Given the description of an element on the screen output the (x, y) to click on. 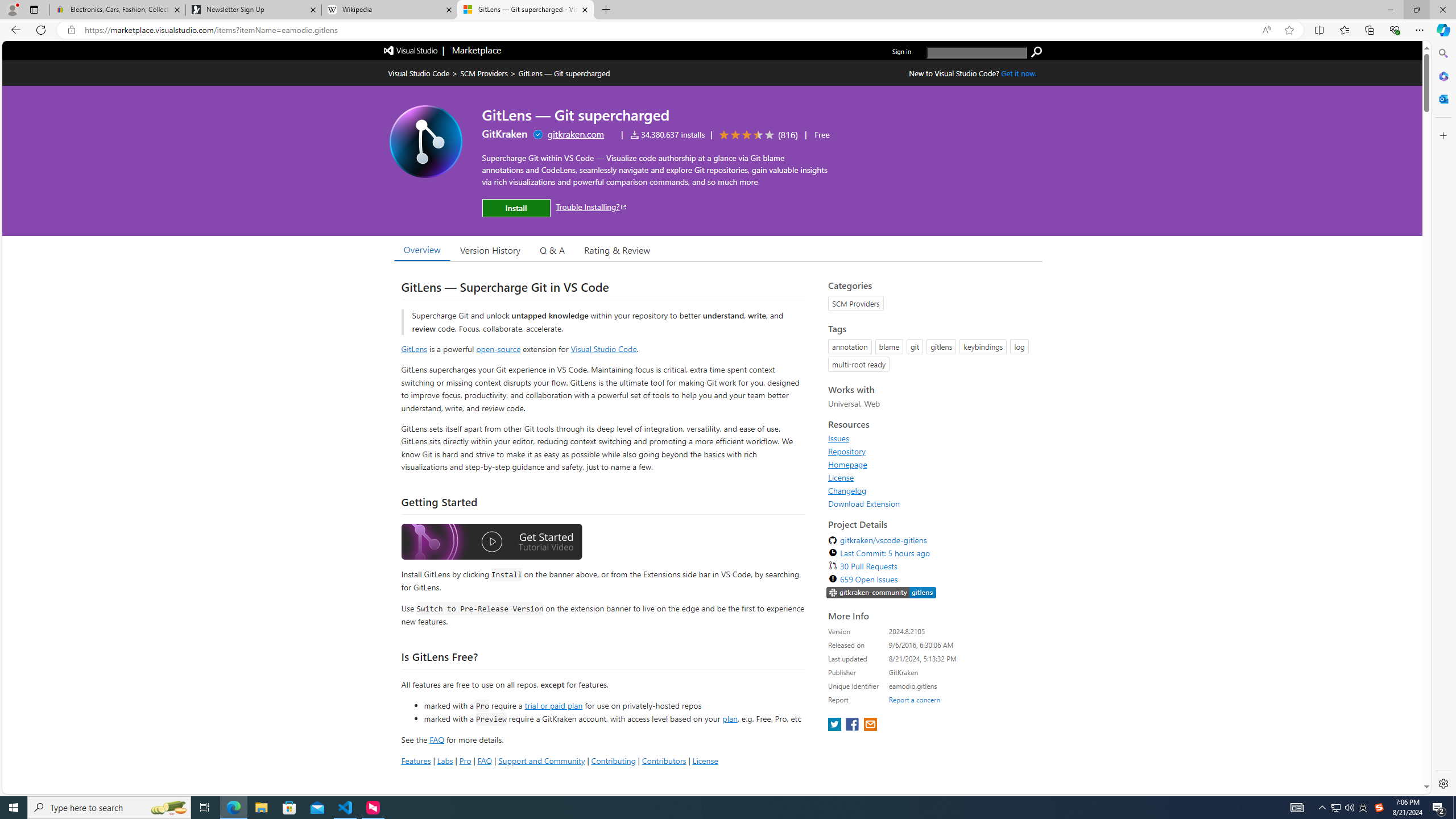
License (840, 477)
Overview (421, 249)
Visual Studio logo (411, 49)
SCM Providers (484, 72)
Contributing (613, 760)
https://slack.gitkraken.com// (881, 592)
Features (415, 760)
Changelog (847, 490)
search (1036, 52)
